Given the description of an element on the screen output the (x, y) to click on. 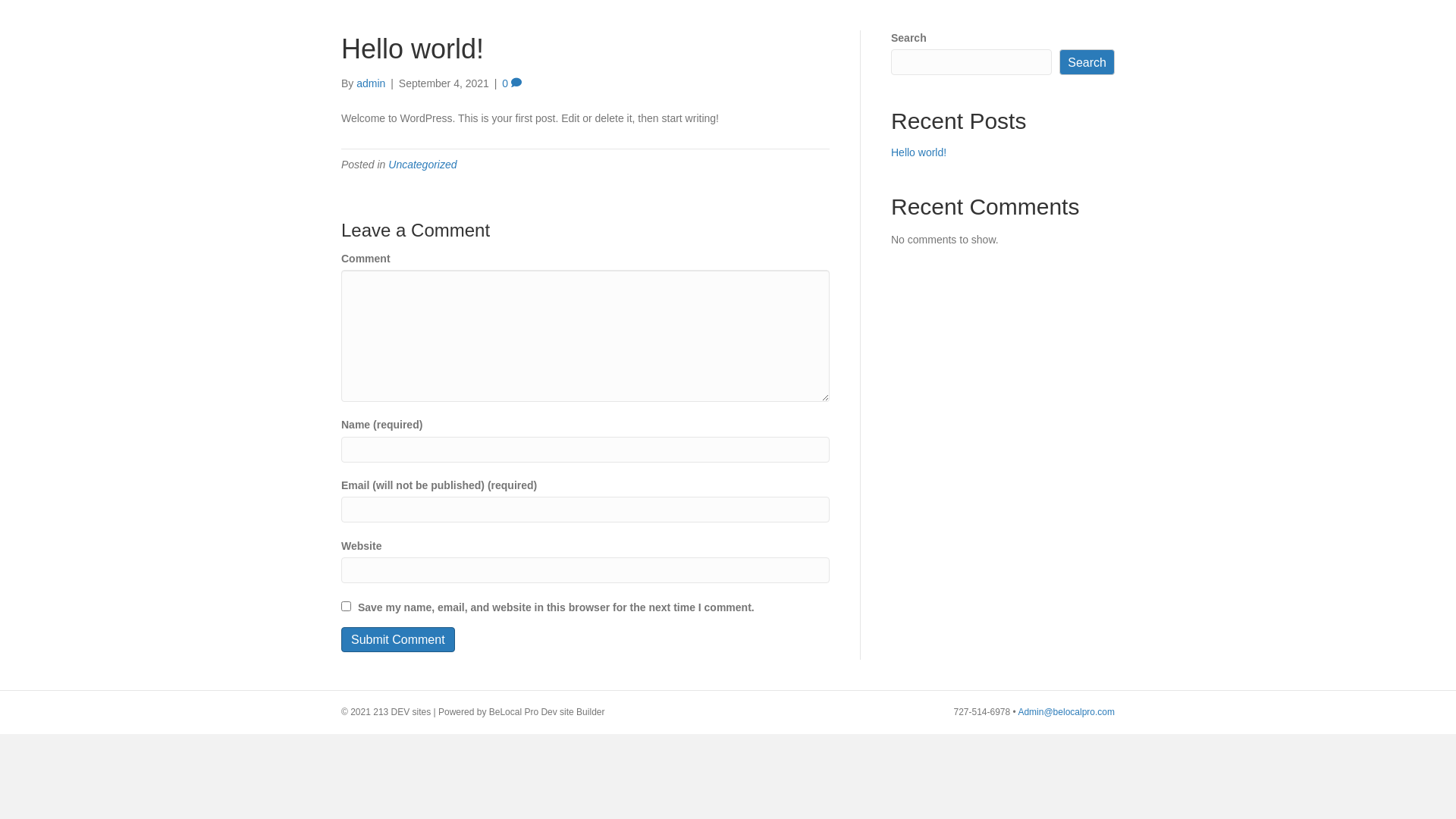
Hello world! Element type: text (918, 152)
Search Element type: text (1086, 62)
Admin@belocalpro.com Element type: text (1065, 711)
Uncategorized Element type: text (422, 164)
admin Element type: text (370, 83)
Submit Comment Element type: text (398, 639)
0 Element type: text (511, 83)
